Given the description of an element on the screen output the (x, y) to click on. 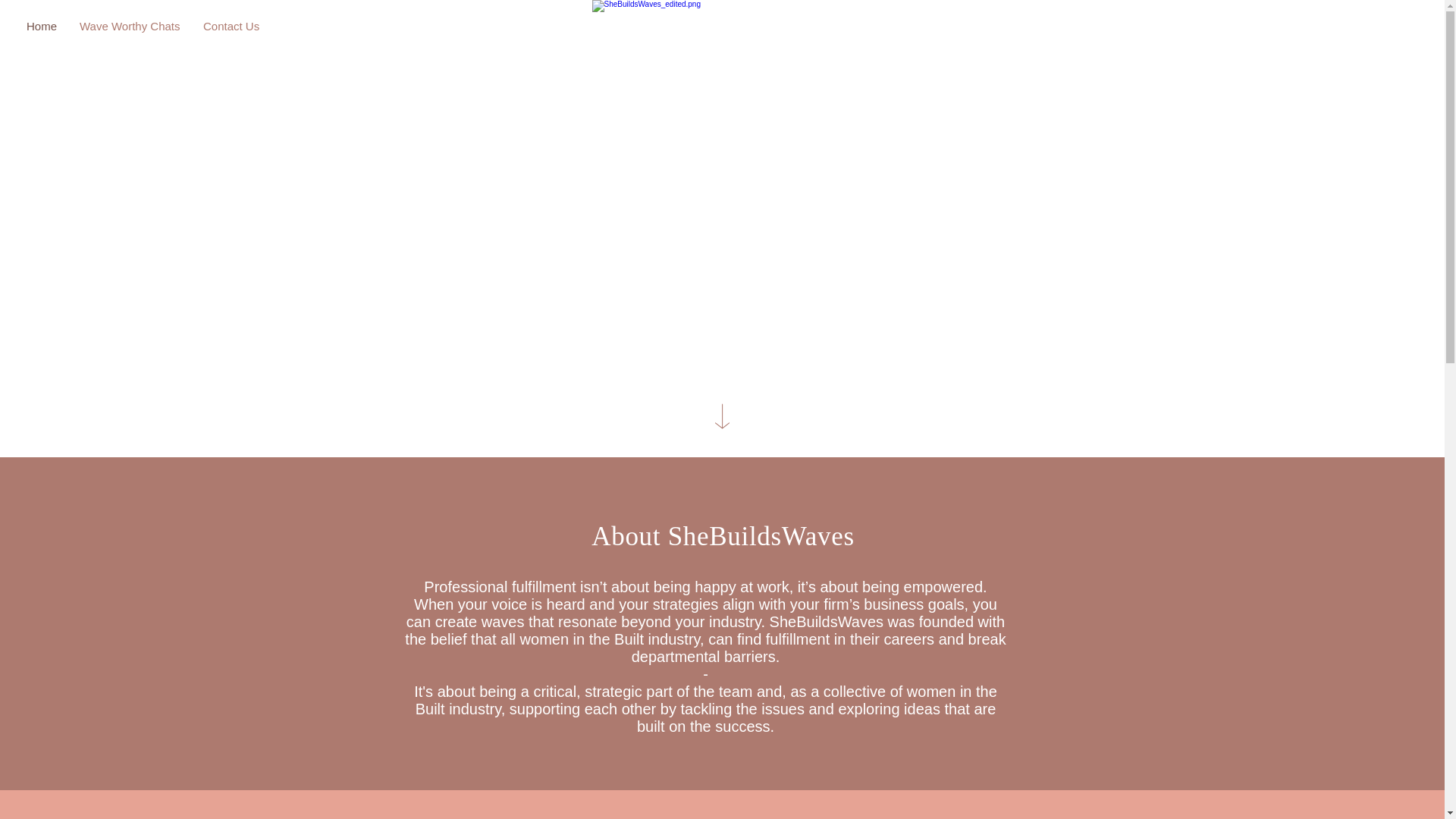
Contact Us (231, 26)
Wave Worthy Chats (130, 26)
Home (41, 26)
